Given the description of an element on the screen output the (x, y) to click on. 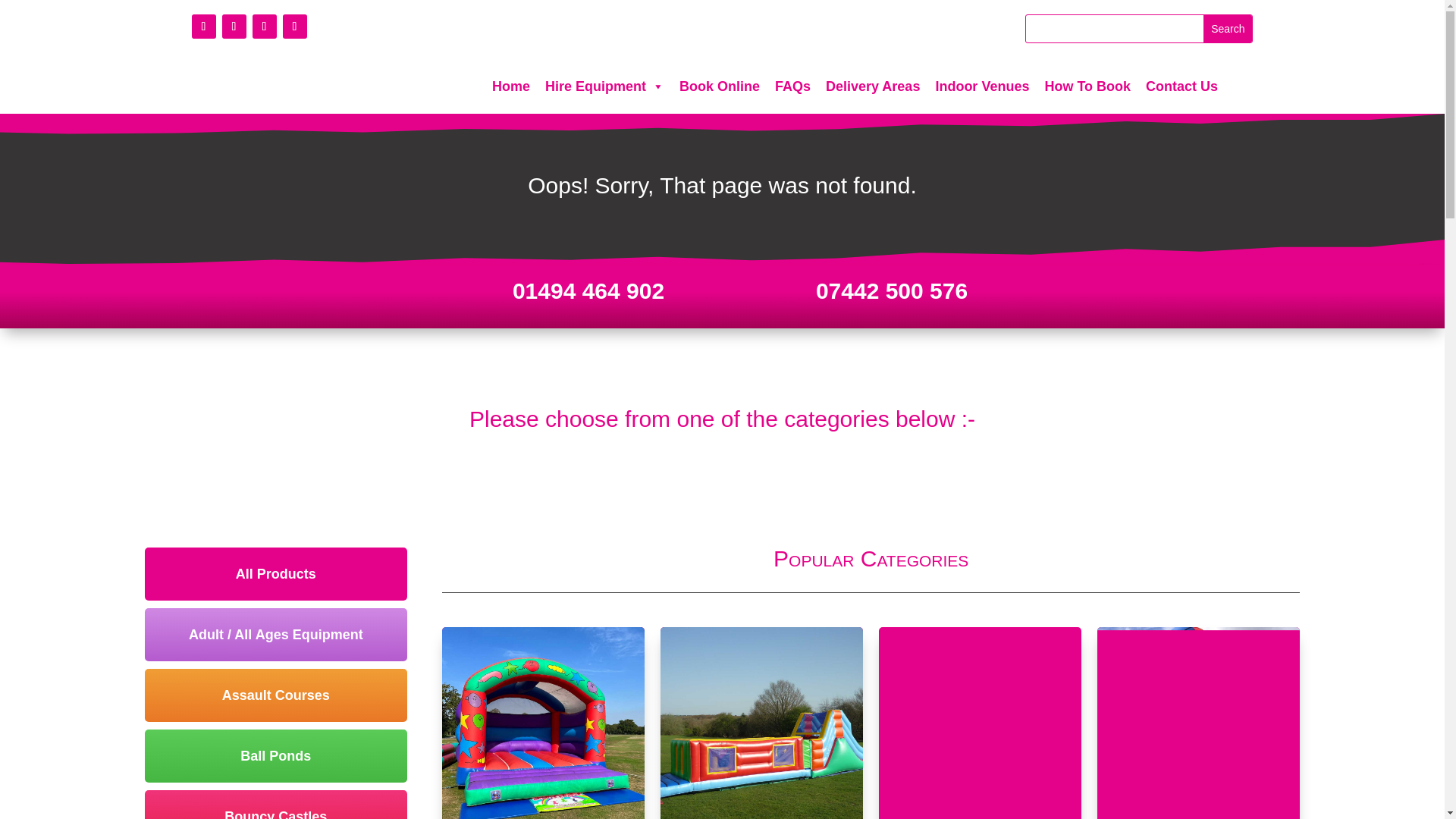
All Products (275, 573)
How To Book (1087, 86)
Indoor Venues (981, 86)
Follow on Youtube (263, 26)
Bouncy Castles (275, 804)
Search (1228, 28)
Follow on Facebook (202, 26)
Hire Equipment (604, 86)
Follow on X (233, 26)
Search (1228, 28)
